Given the description of an element on the screen output the (x, y) to click on. 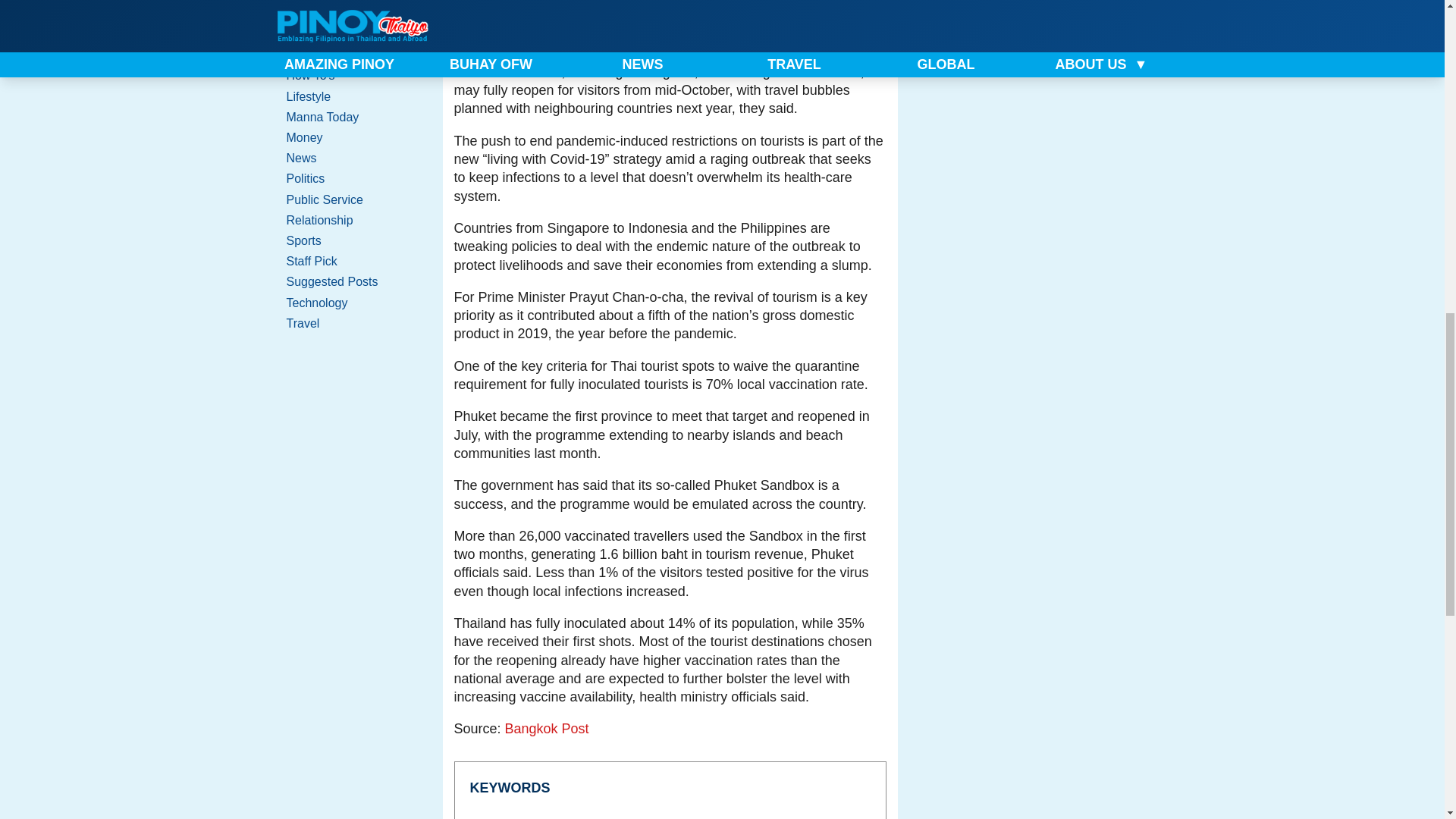
View all posts in Health (349, 55)
View all posts in Manna Today (349, 117)
View all posts in Events (349, 2)
Bangkok Post (547, 728)
View all posts in Food (349, 14)
View all posts in Global (349, 34)
View all posts in Lifestyle (349, 96)
View all posts in How To's (349, 75)
